Given the description of an element on the screen output the (x, y) to click on. 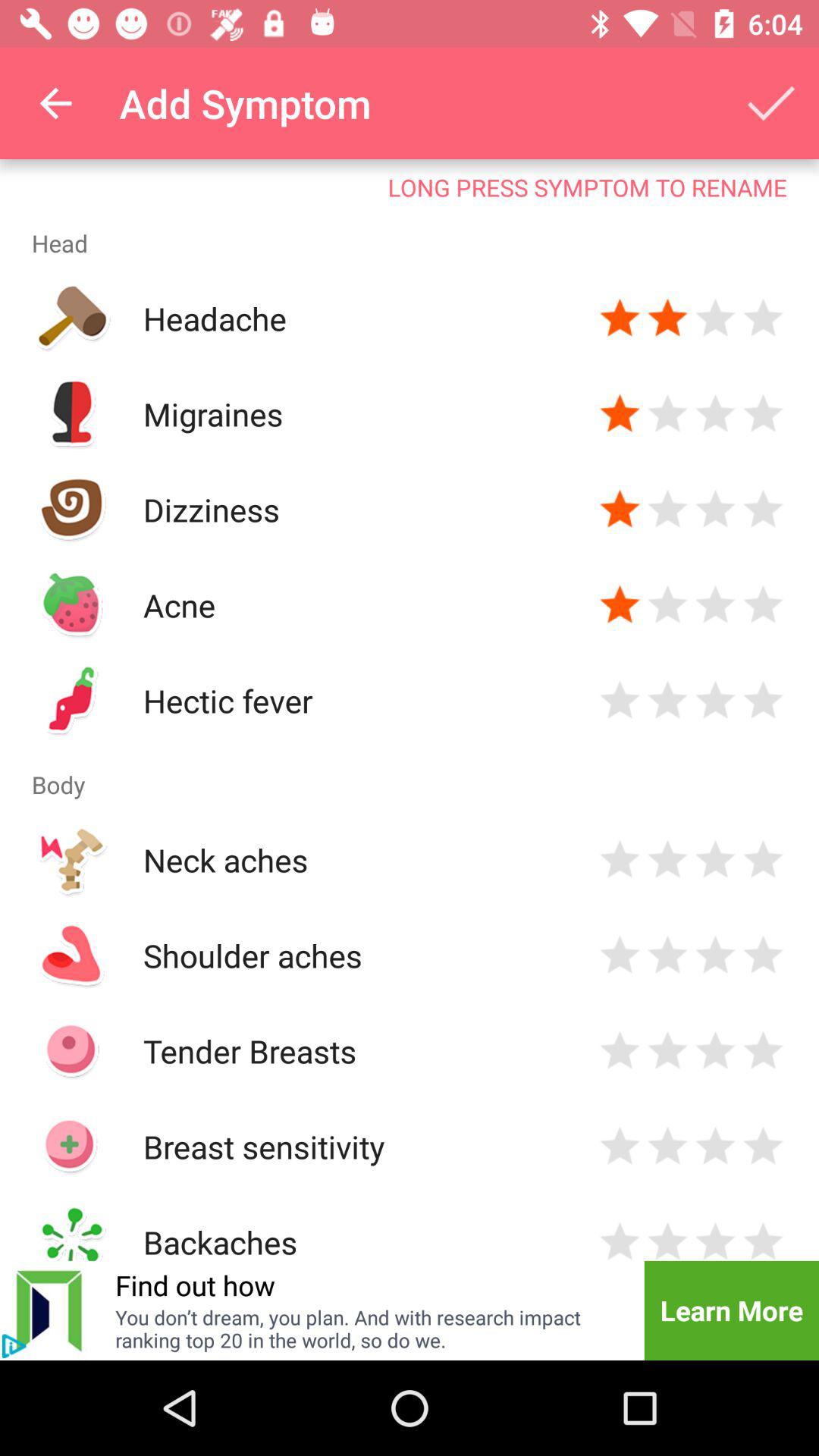
option for rate (763, 1239)
